Given the description of an element on the screen output the (x, y) to click on. 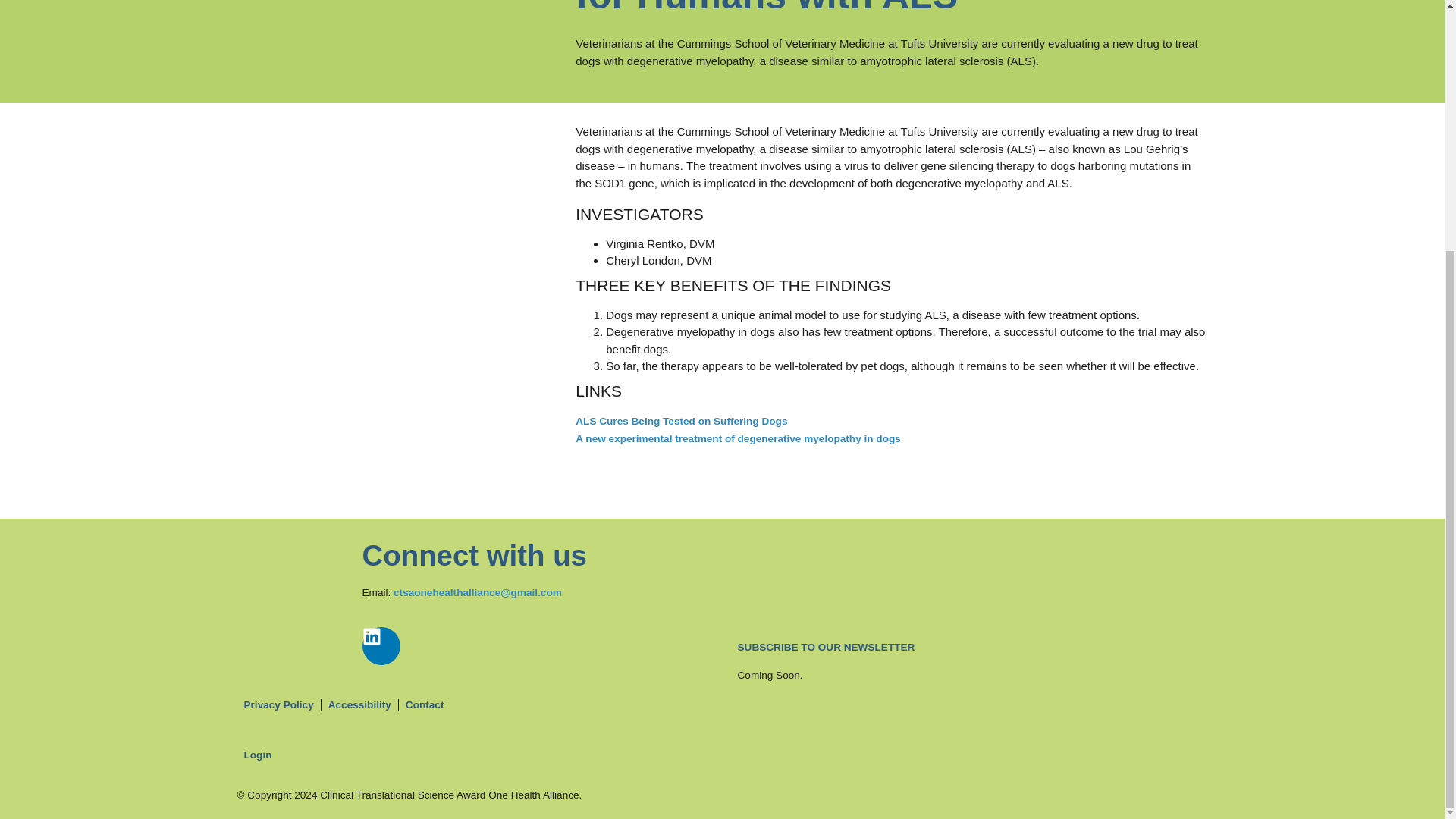
Accessibility (359, 704)
ALS Cures Being Tested on Suffering Dogs (681, 420)
Privacy Policy (277, 704)
